Given the description of an element on the screen output the (x, y) to click on. 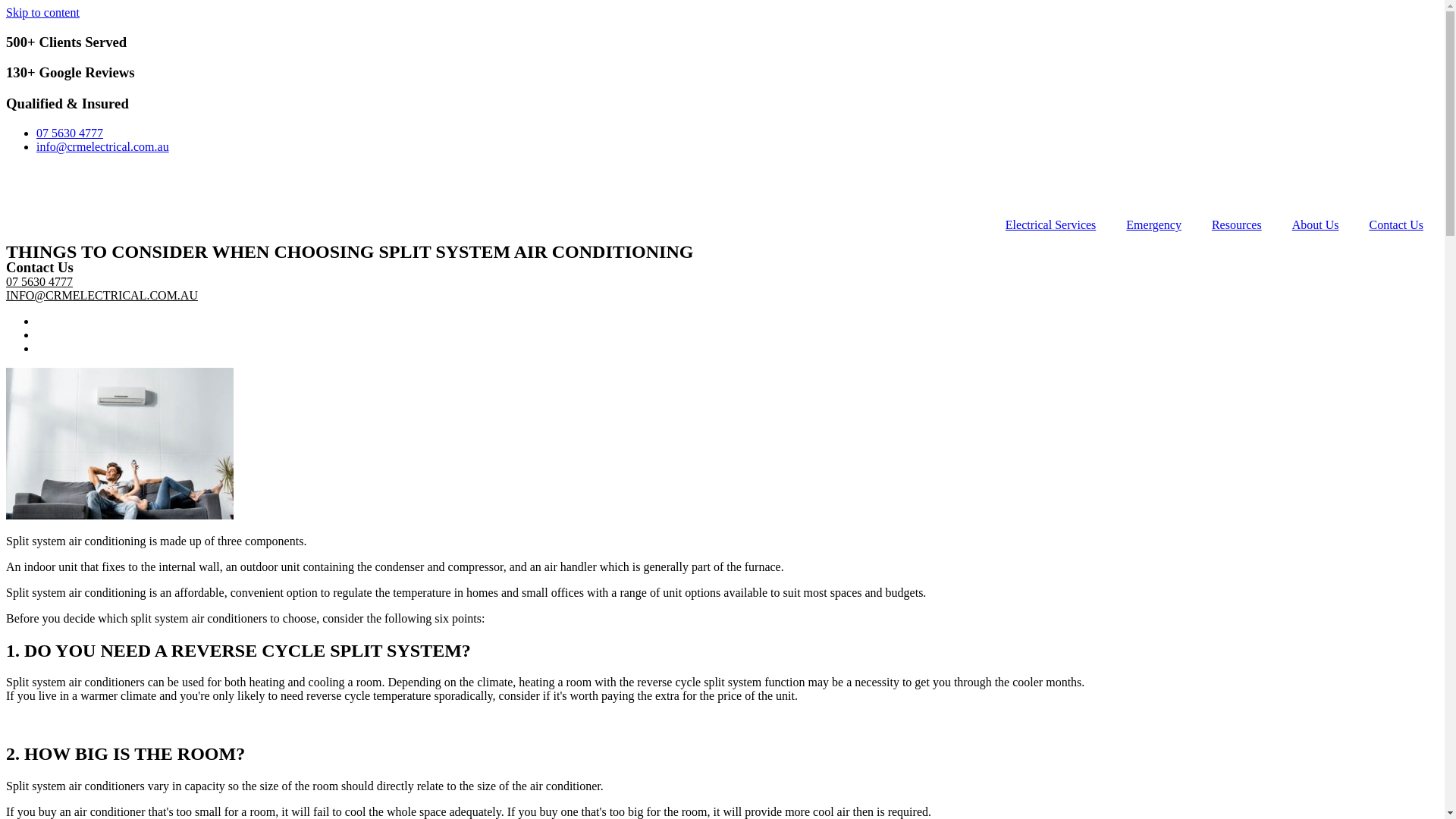
info@crmelectrical.com.au Element type: text (102, 146)
Emergency Element type: text (1153, 224)
INFO@CRMELECTRICAL.COM.AU Element type: text (101, 294)
Electrical Services Element type: text (1050, 224)
07 5630 4777 Element type: text (69, 132)
07 5630 4777 Element type: text (39, 281)
Skip to content Element type: text (42, 12)
About Us Element type: text (1315, 224)
AIR CONDITIONING ELECTRICIAN GOLD COAST Element type: hover (119, 443)
Contact Us Element type: text (1395, 224)
Resources Element type: text (1236, 224)
